Given the description of an element on the screen output the (x, y) to click on. 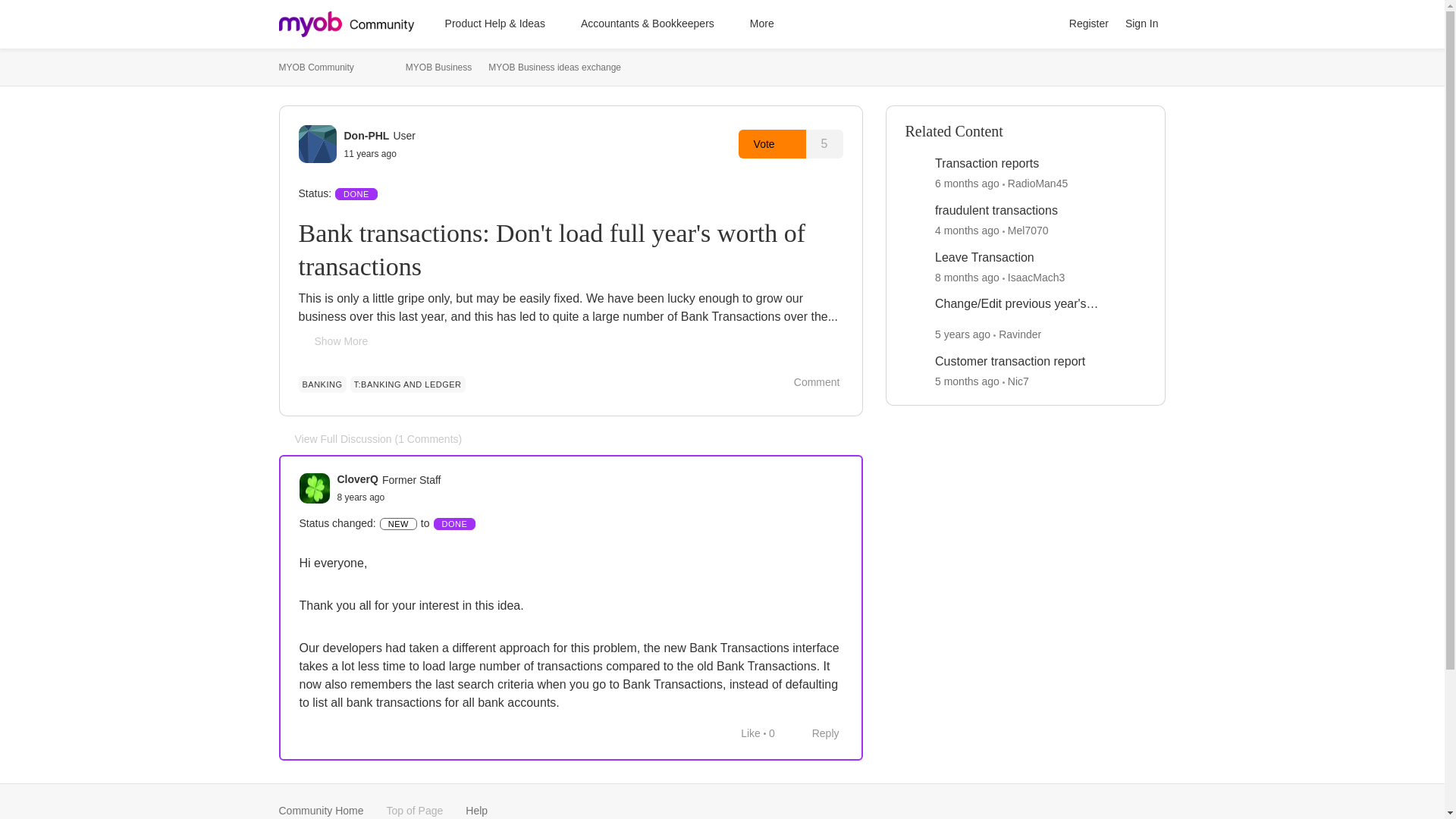
December 7, 2023 at 7:42 PM (966, 276)
Comment (808, 382)
June 5, 2014 at 4:45 AM (369, 153)
BANKING (322, 384)
March 19, 2024 at 1:10 AM (966, 230)
More (768, 23)
T:BANKING AND LEDGER (407, 384)
Don-PHL (366, 135)
MYOB Community (316, 66)
MYOB Business ideas exchange (554, 66)
CloverQ (356, 479)
Sign In (1142, 23)
Leave Transaction (983, 258)
Transaction reports (986, 163)
0 (771, 733)
